Given the description of an element on the screen output the (x, y) to click on. 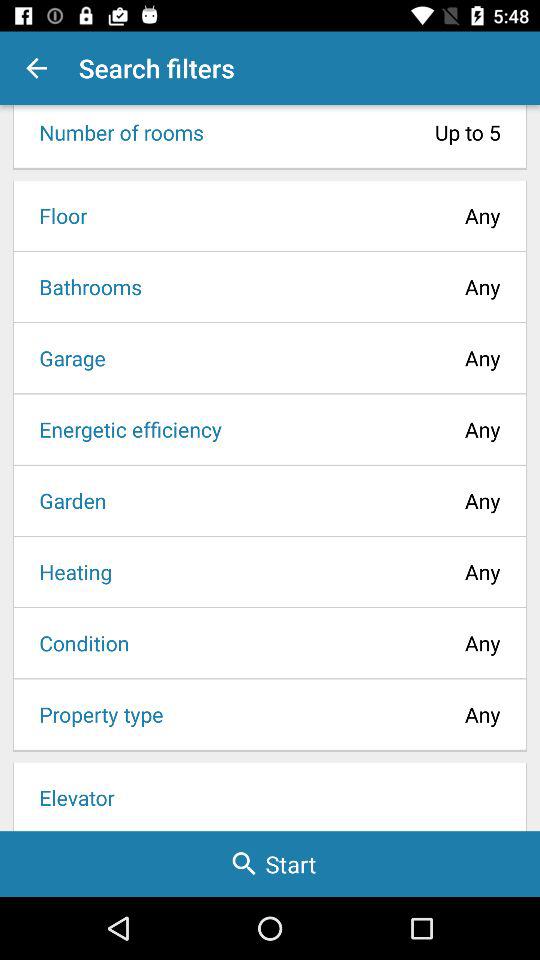
press the item next to the any icon (56, 215)
